Given the description of an element on the screen output the (x, y) to click on. 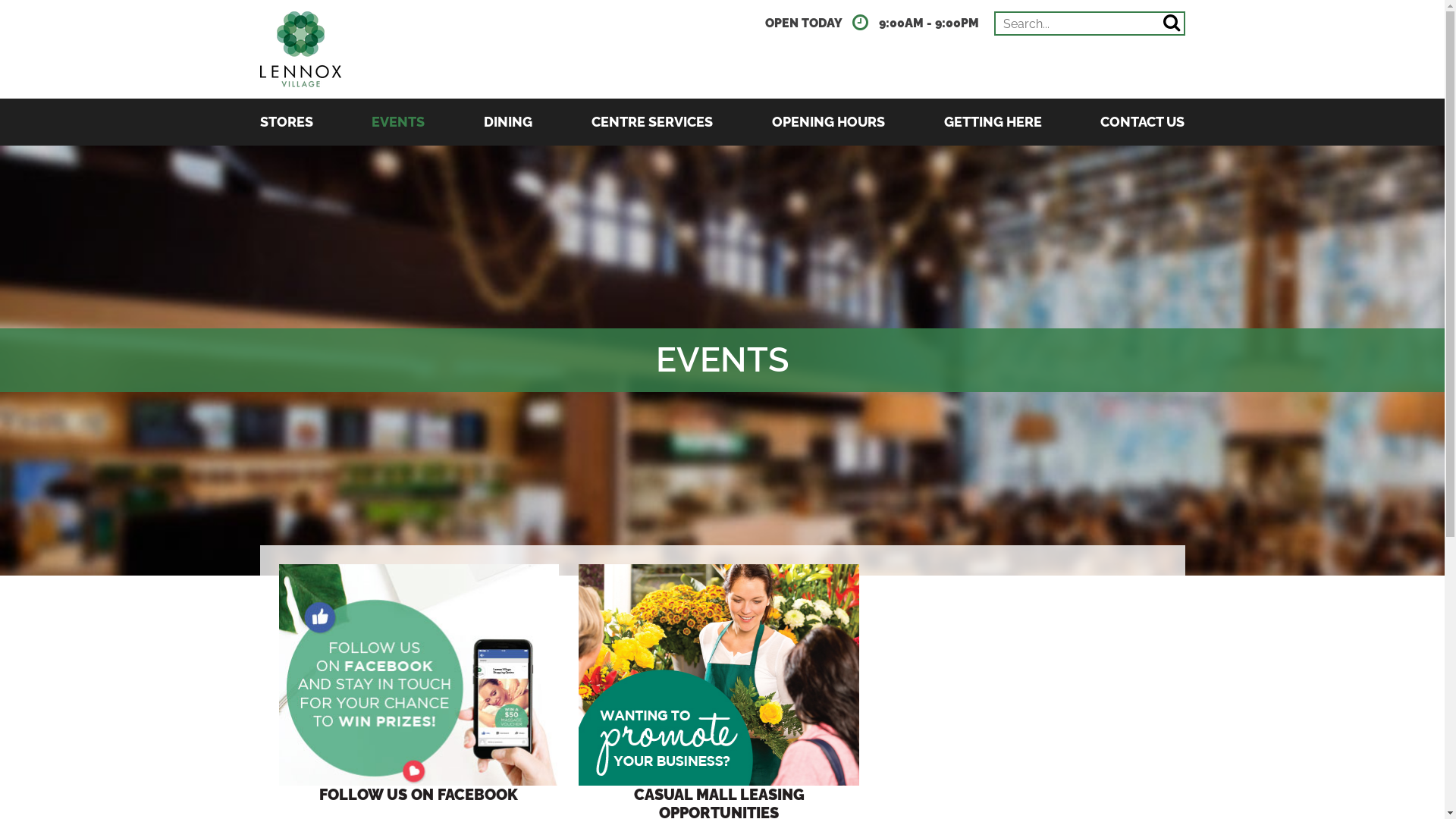
GETTING HERE Element type: text (992, 121)
CONTACT US Element type: text (1142, 121)
EVENTS Element type: text (397, 121)
CENTRE SERVICES Element type: text (651, 121)
STORES Element type: text (285, 121)
OPENING HOURS Element type: text (827, 121)
DINING Element type: text (507, 121)
